Given the description of an element on the screen output the (x, y) to click on. 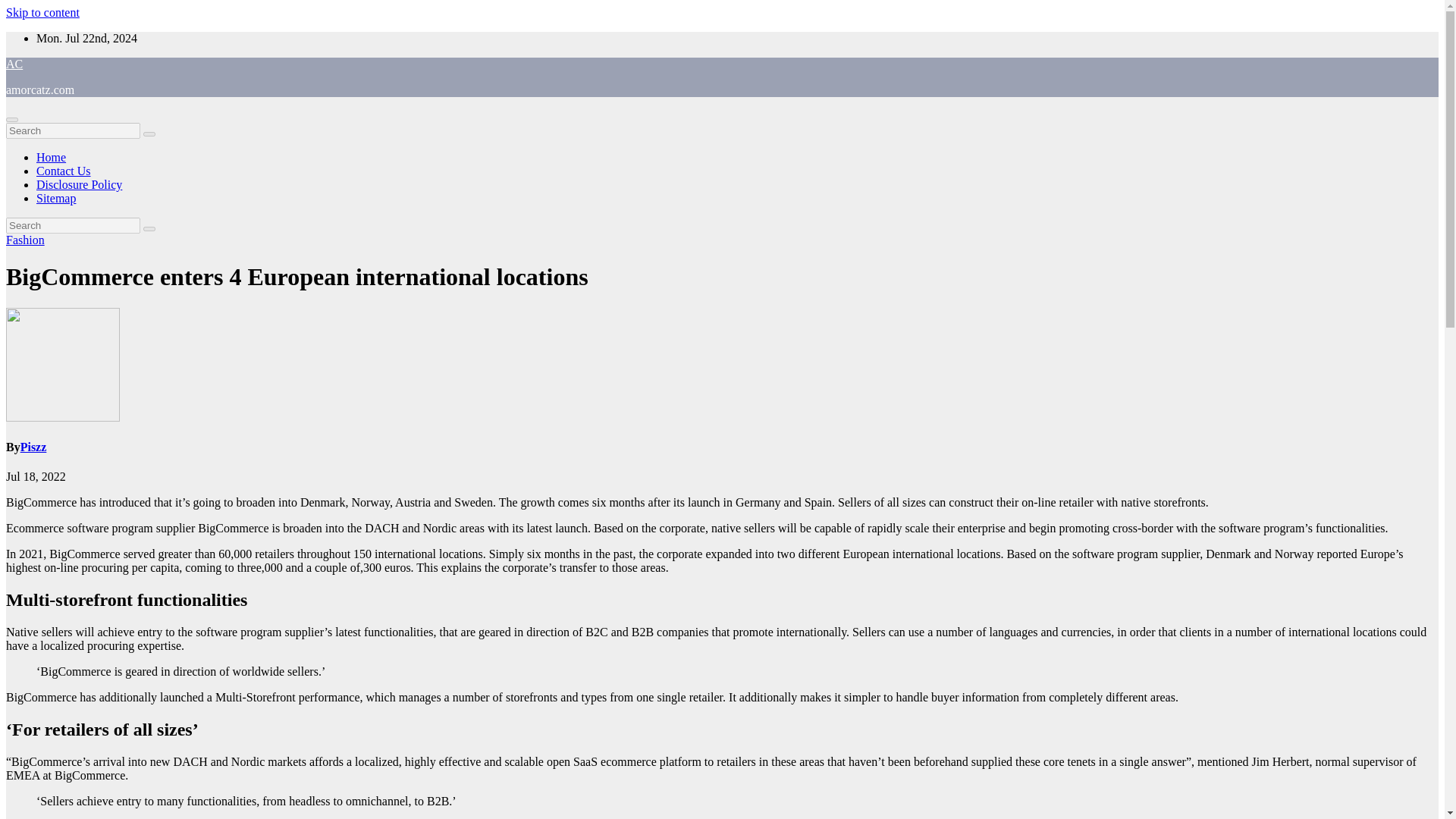
AC (14, 63)
Home (50, 156)
Fashion (25, 239)
Skip to content (42, 11)
BigCommerce enters 4 European international locations (296, 276)
Home (50, 156)
Sitemap (55, 197)
Disclosure Policy (79, 184)
Piszz (33, 446)
Contact Us (63, 170)
